Given the description of an element on the screen output the (x, y) to click on. 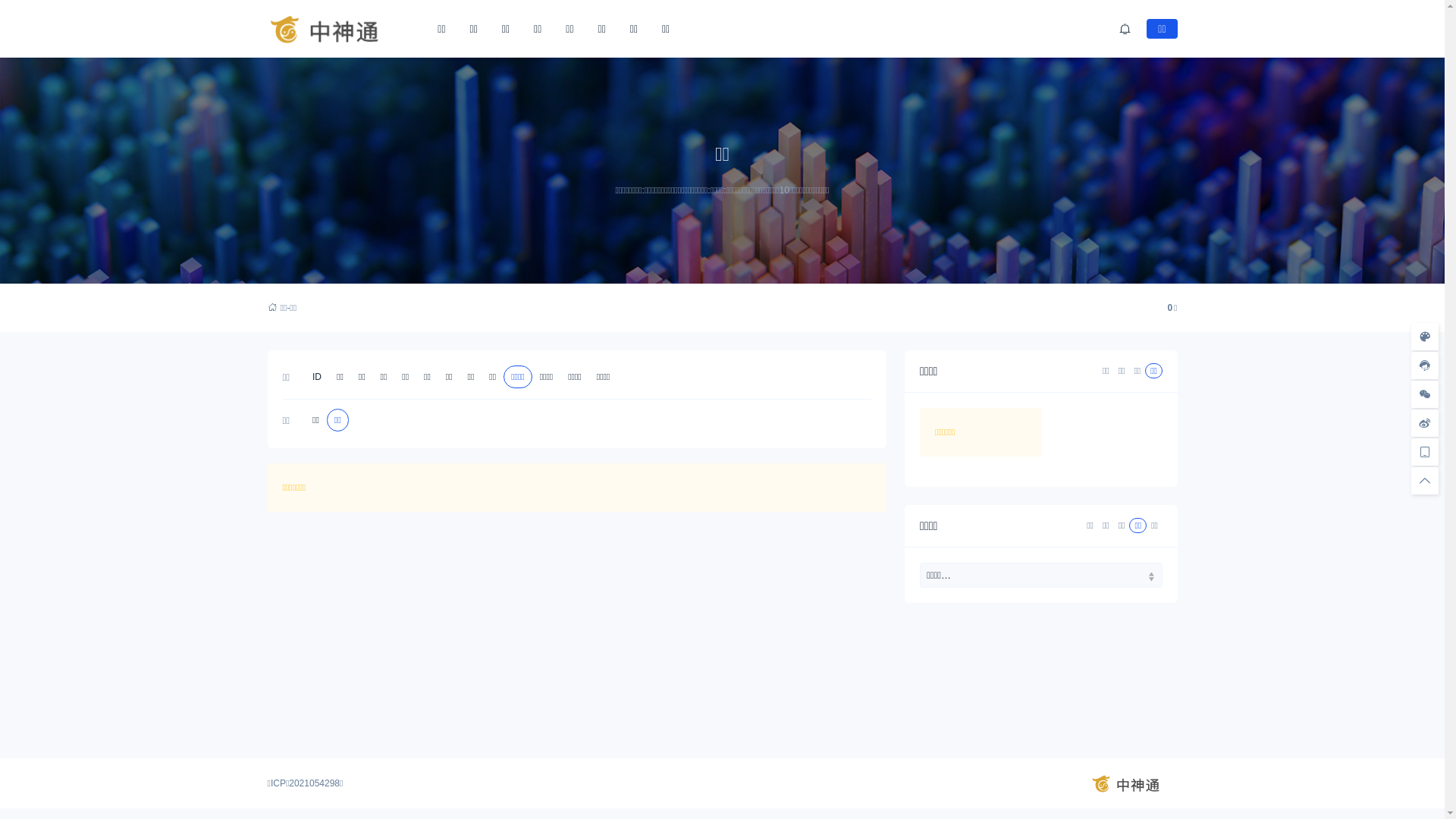
ID Element type: text (316, 376)
